Given the description of an element on the screen output the (x, y) to click on. 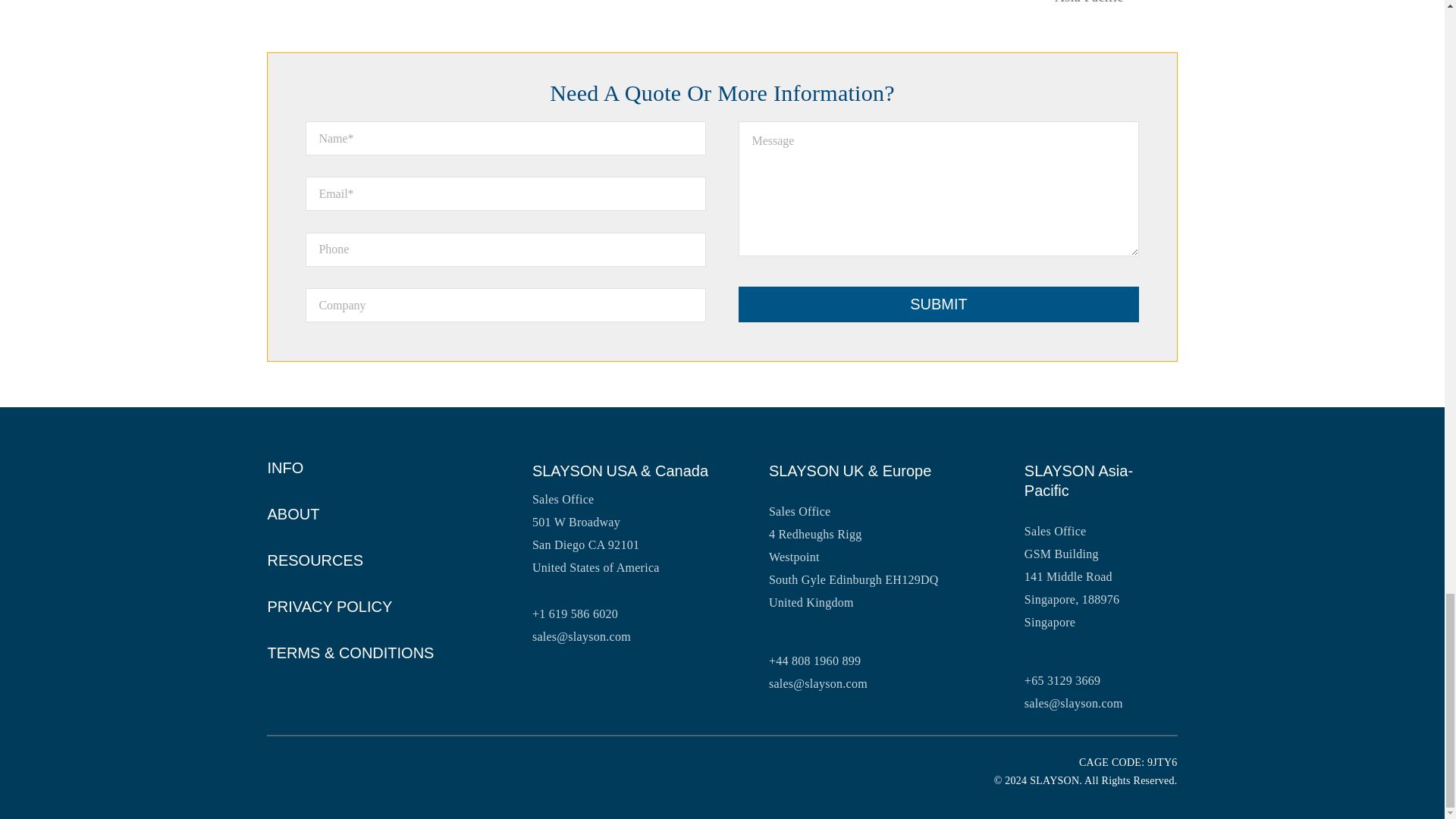
Page 1 (721, 94)
Engineered To Protect (426, 769)
